Given the description of an element on the screen output the (x, y) to click on. 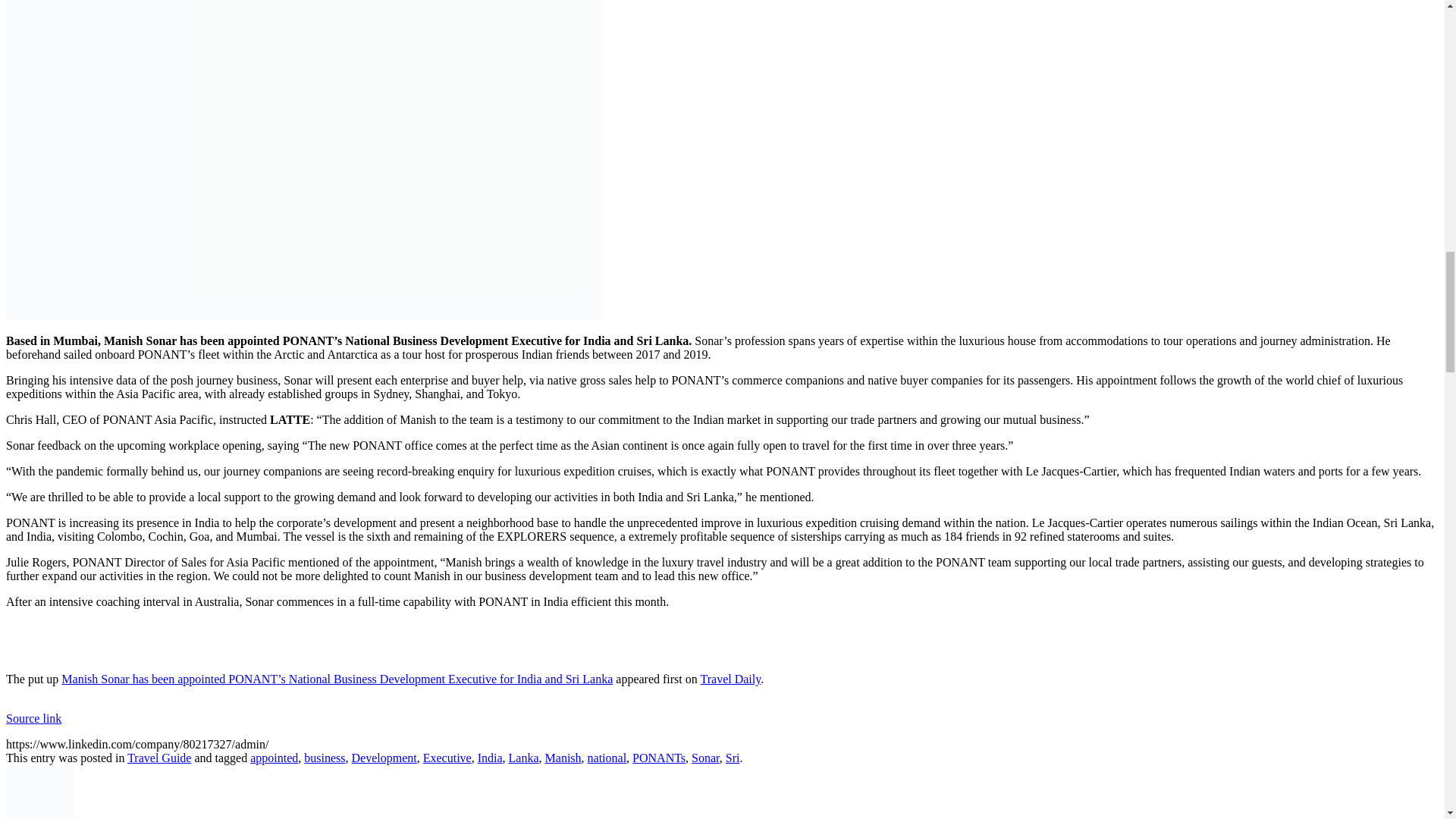
Manish (562, 757)
Travel Daily (730, 678)
Development (384, 757)
Source link (33, 717)
national (607, 757)
Travel Guide (159, 757)
Sri (732, 757)
Executive (447, 757)
business (324, 757)
Sonar (705, 757)
PONANTs (658, 757)
India (489, 757)
appointed (274, 757)
Lanka (523, 757)
